Given the description of an element on the screen output the (x, y) to click on. 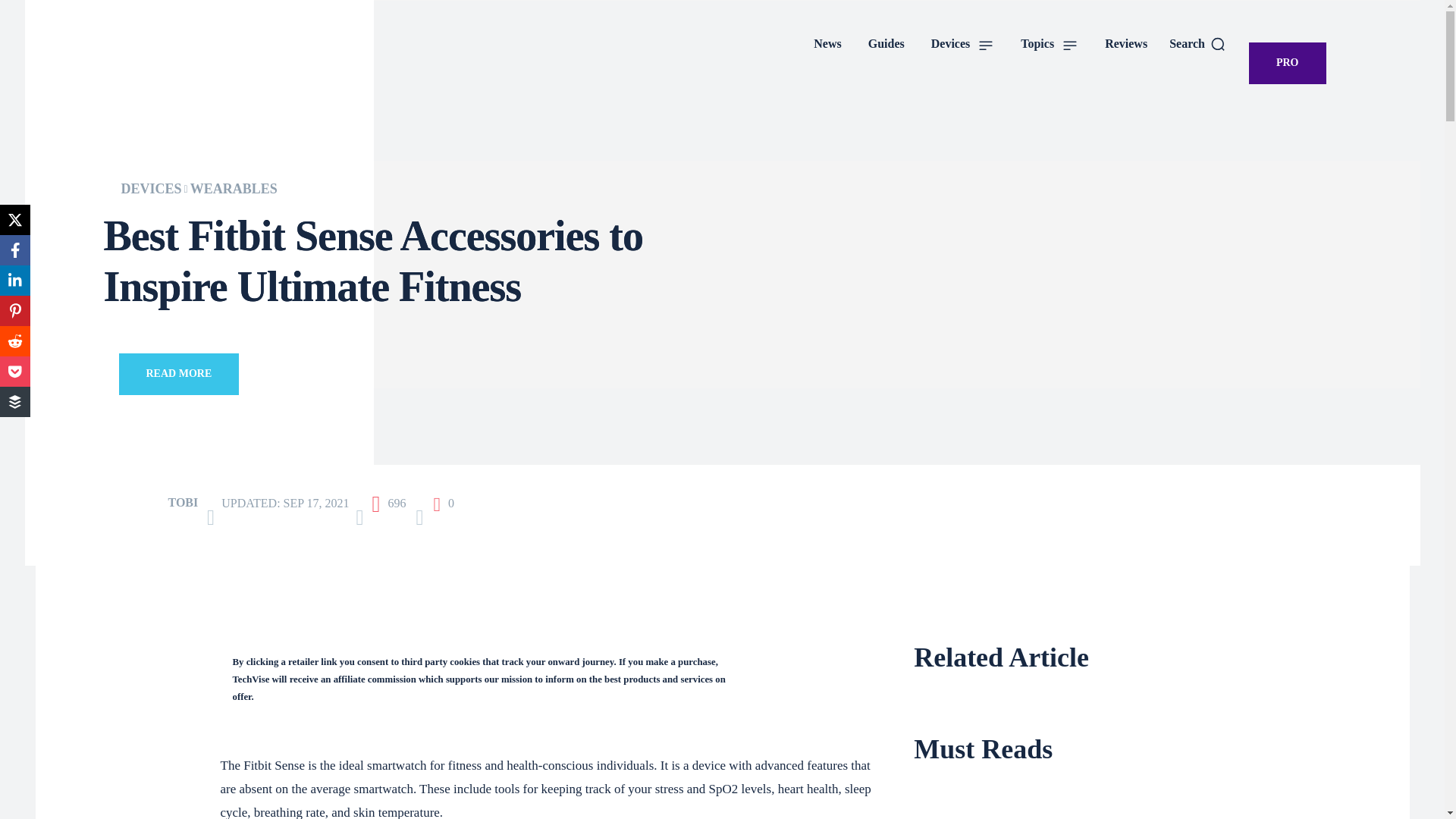
Topics (1048, 43)
Read More (177, 373)
Guides (886, 43)
TechVise Logo (193, 57)
Tobi (141, 502)
Reviews (1125, 43)
Search (1197, 44)
Pro (1287, 63)
Devices (962, 43)
